Given the description of an element on the screen output the (x, y) to click on. 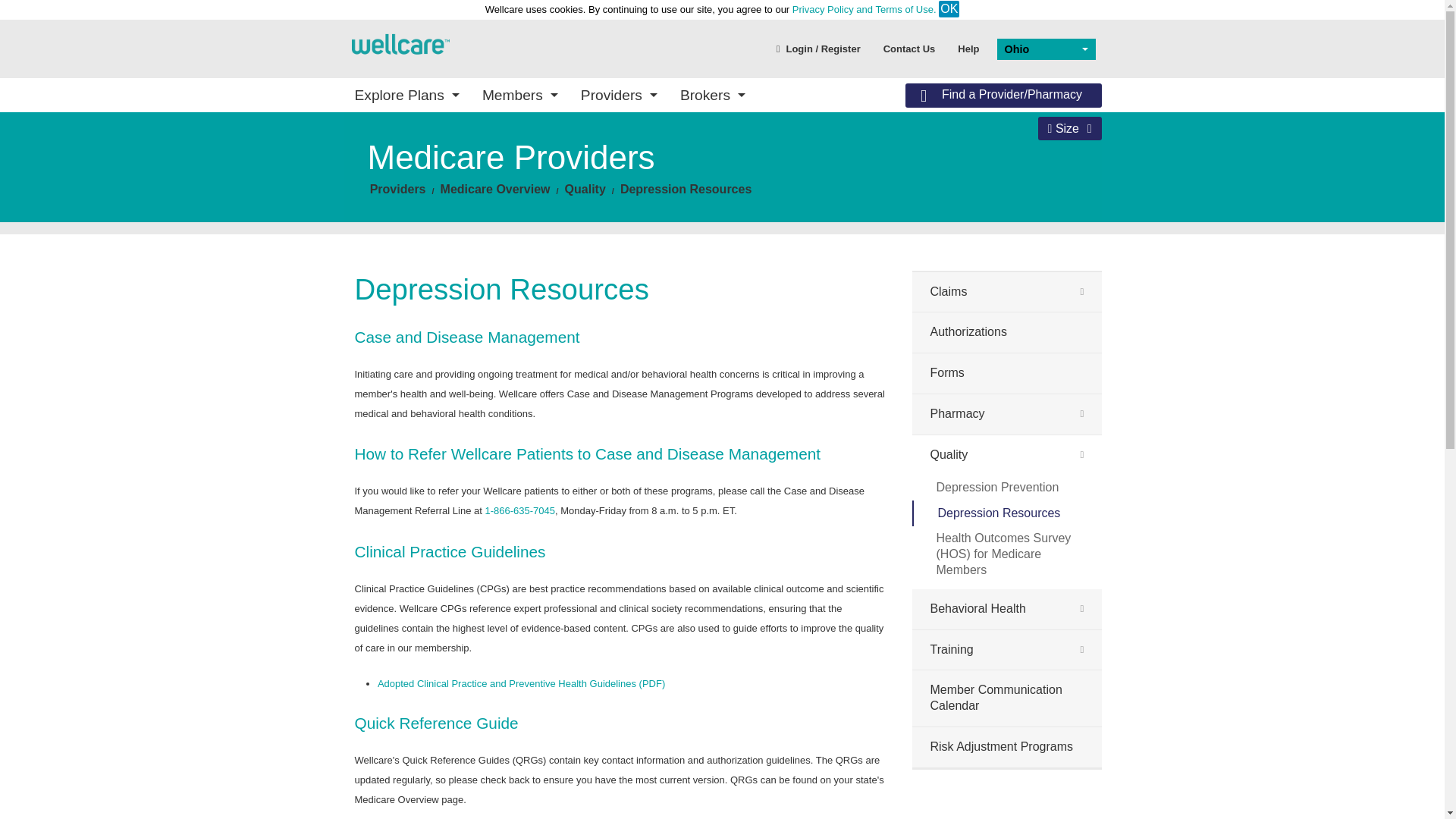
Dual Eligibility (988, 216)
How to Enroll (810, 173)
bread (495, 188)
register (818, 47)
OK (949, 8)
Privacy Policy and Terms of Use. (864, 9)
HMO Plans (456, 216)
Member Login (456, 277)
Members (519, 94)
contact us (909, 47)
C-SNP Plans (456, 260)
PDP Overview (633, 189)
bread (685, 188)
D-SNP Plans (456, 238)
Medicare Overview (633, 263)
